Given the description of an element on the screen output the (x, y) to click on. 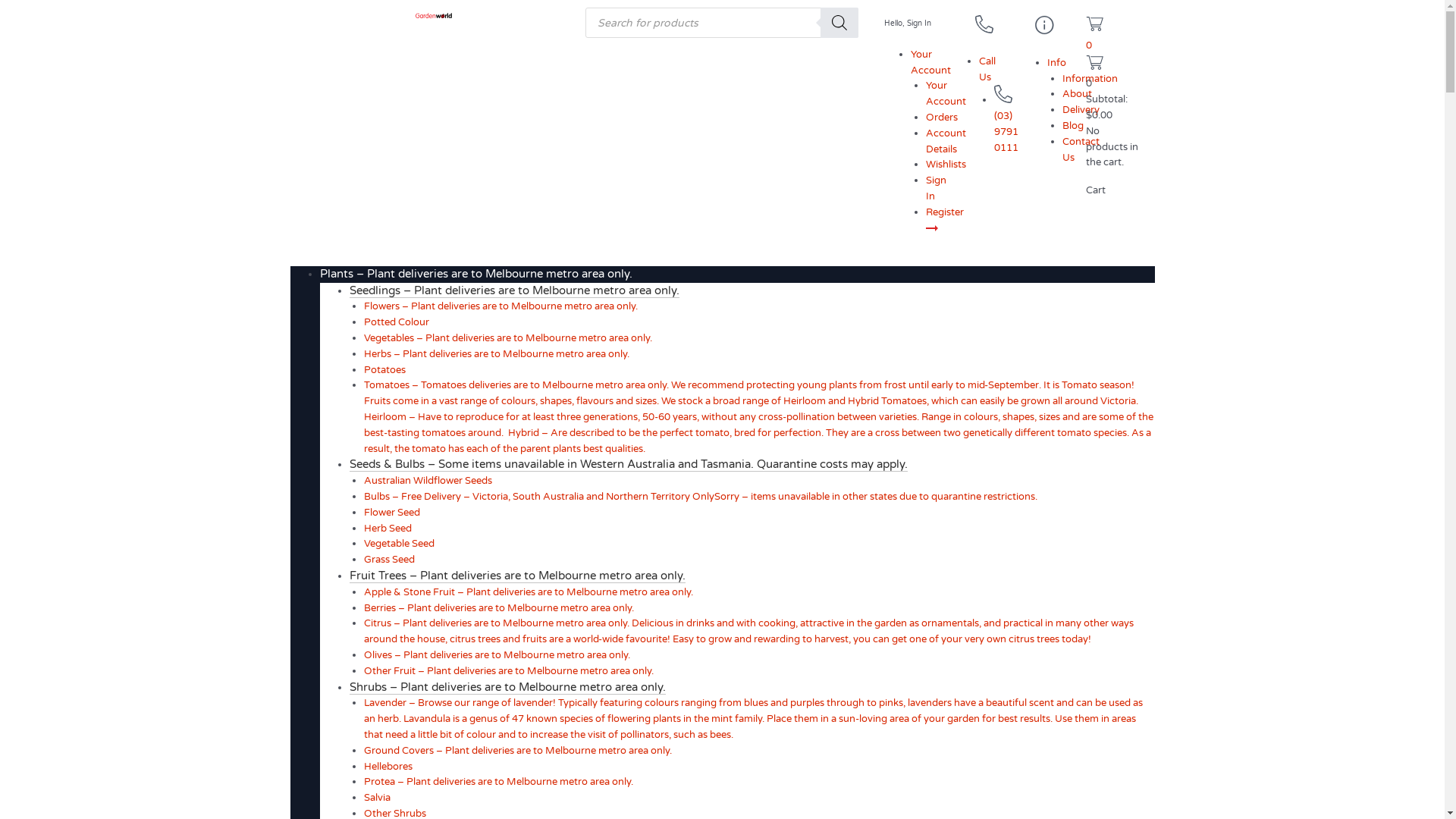
Herb Seed Element type: text (387, 528)
(03) 9791 0111 Element type: text (1006, 123)
Your Account Element type: text (930, 62)
Info Element type: text (1056, 62)
Call Us Element type: text (987, 69)
Potted Colour Element type: text (396, 322)
Orders Element type: text (941, 117)
Sign In Element type: text (935, 188)
Register Element type: text (944, 220)
Vegetable Seed Element type: text (399, 543)
About Element type: text (1077, 93)
0 Element type: text (1112, 34)
GW_logo.svg Element type: hover (433, 15)
Potatoes Element type: text (384, 370)
Blog Element type: text (1072, 125)
Information Element type: text (1089, 78)
Wishlists Element type: text (945, 164)
Account Details Element type: text (945, 141)
Australian Wildflower Seeds Element type: text (428, 480)
Contact Us Element type: text (1080, 149)
Grass Seed Element type: text (389, 559)
Delivery Element type: text (1080, 109)
Flower Seed Element type: text (392, 512)
Your Account Element type: text (945, 93)
Salvia Element type: text (377, 797)
Hellebores Element type: text (388, 766)
